Given the description of an element on the screen output the (x, y) to click on. 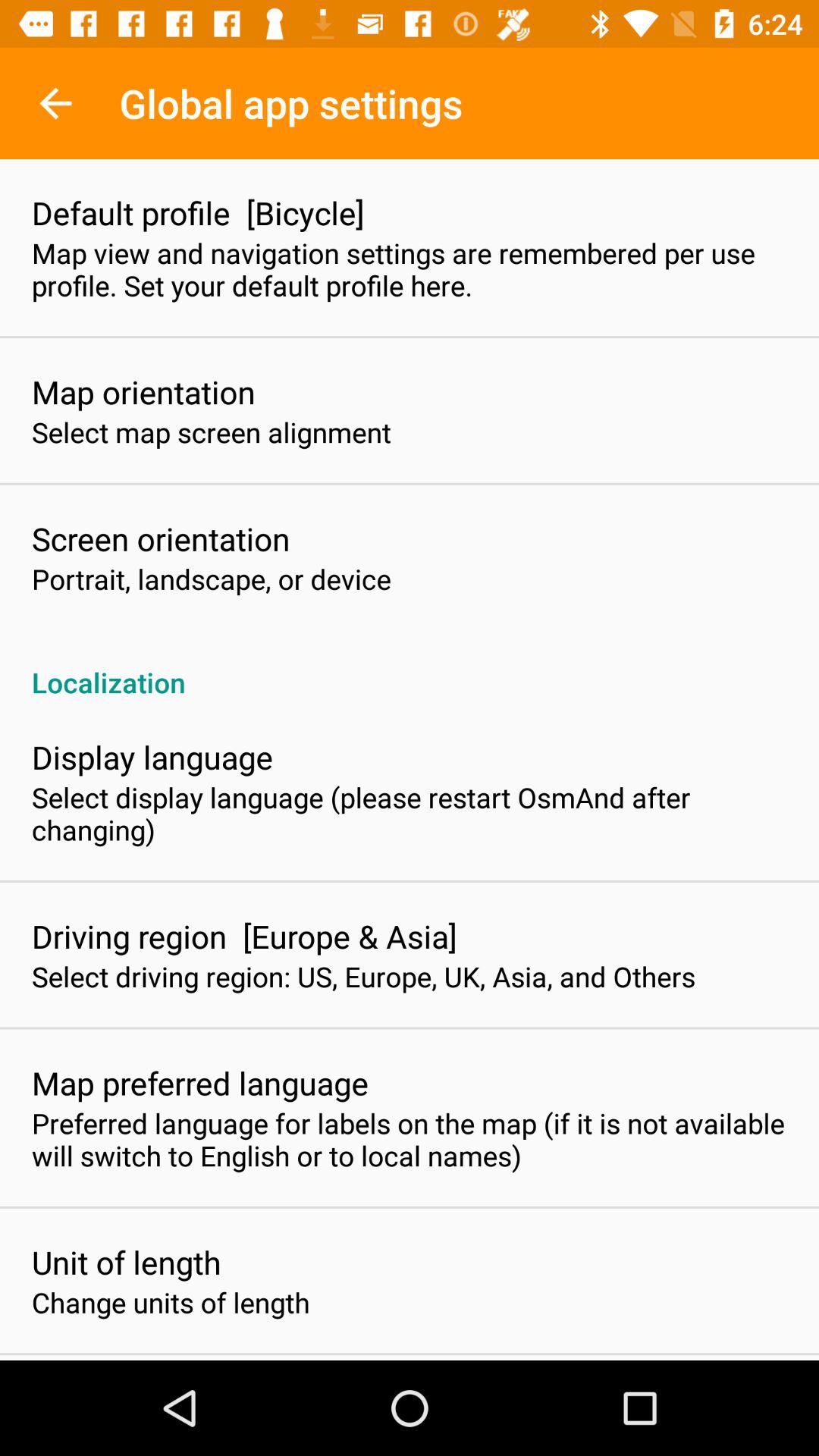
launch icon below map view and item (143, 391)
